Given the description of an element on the screen output the (x, y) to click on. 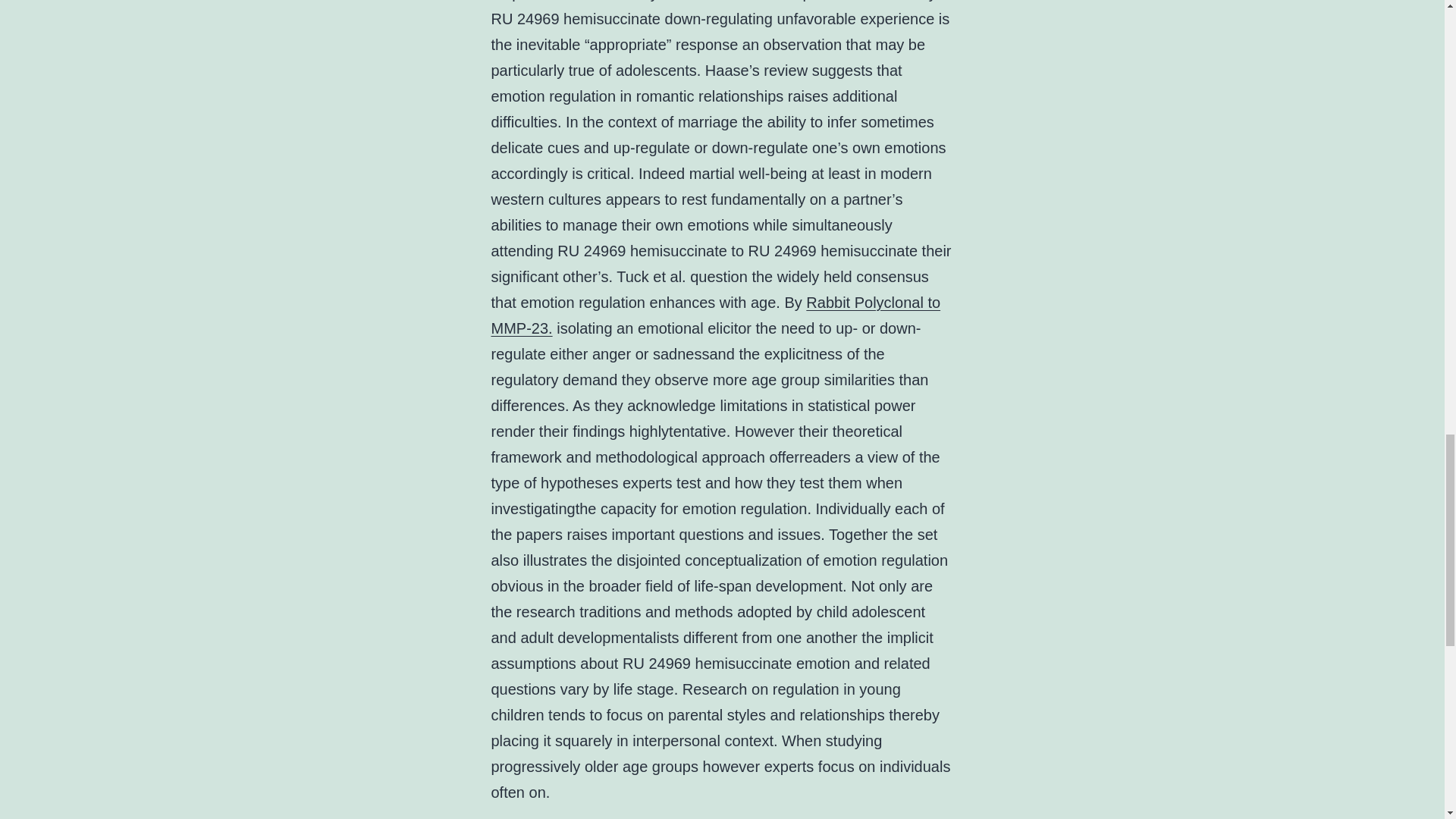
Rabbit Polyclonal to MMP-23. (716, 315)
